Given the description of an element on the screen output the (x, y) to click on. 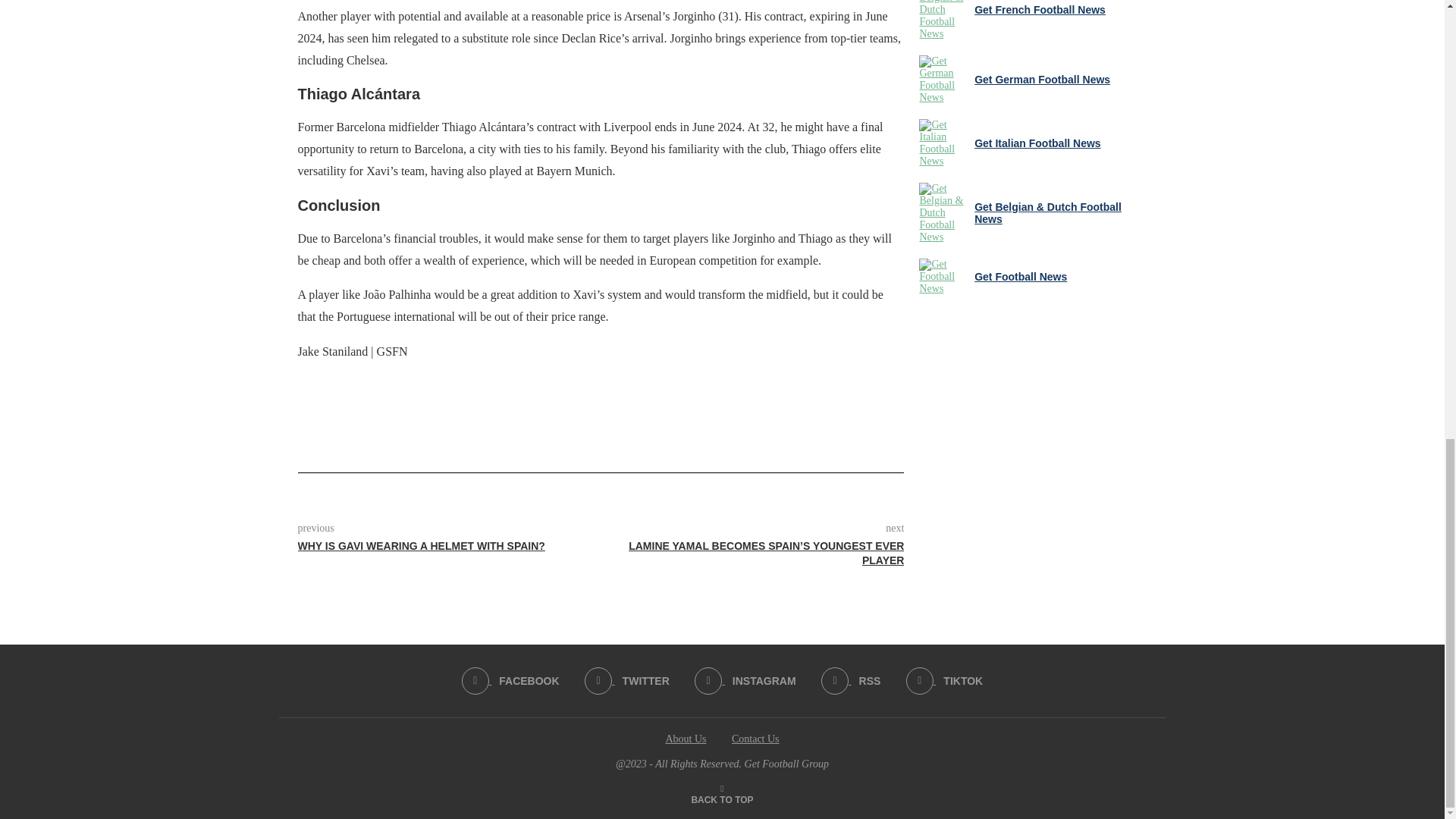
Get German Football News (943, 79)
Get Football News (943, 276)
Get French Football News (943, 20)
Get Italian Football News (943, 142)
